Given the description of an element on the screen output the (x, y) to click on. 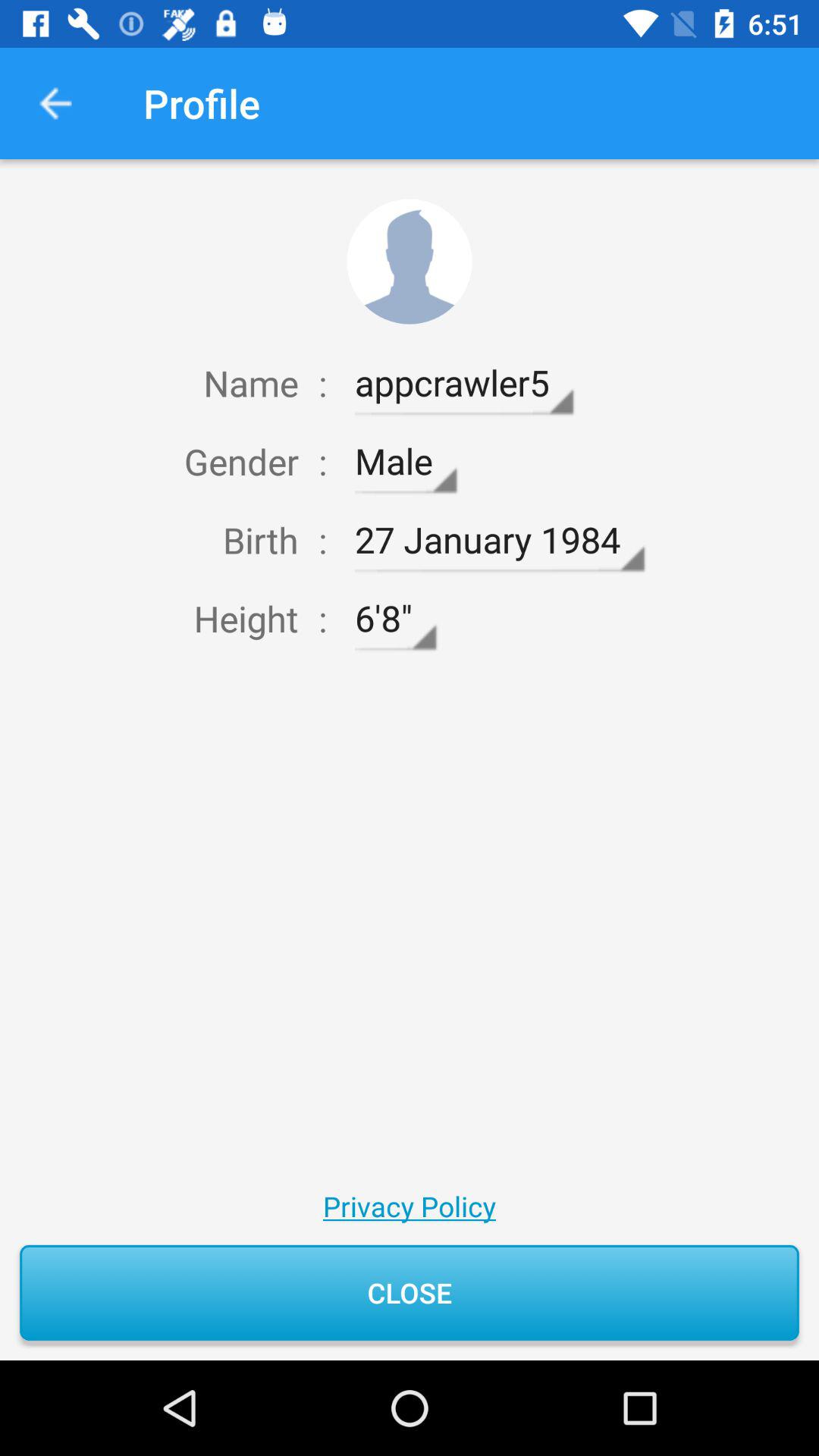
swipe until privacy policy icon (409, 1206)
